Given the description of an element on the screen output the (x, y) to click on. 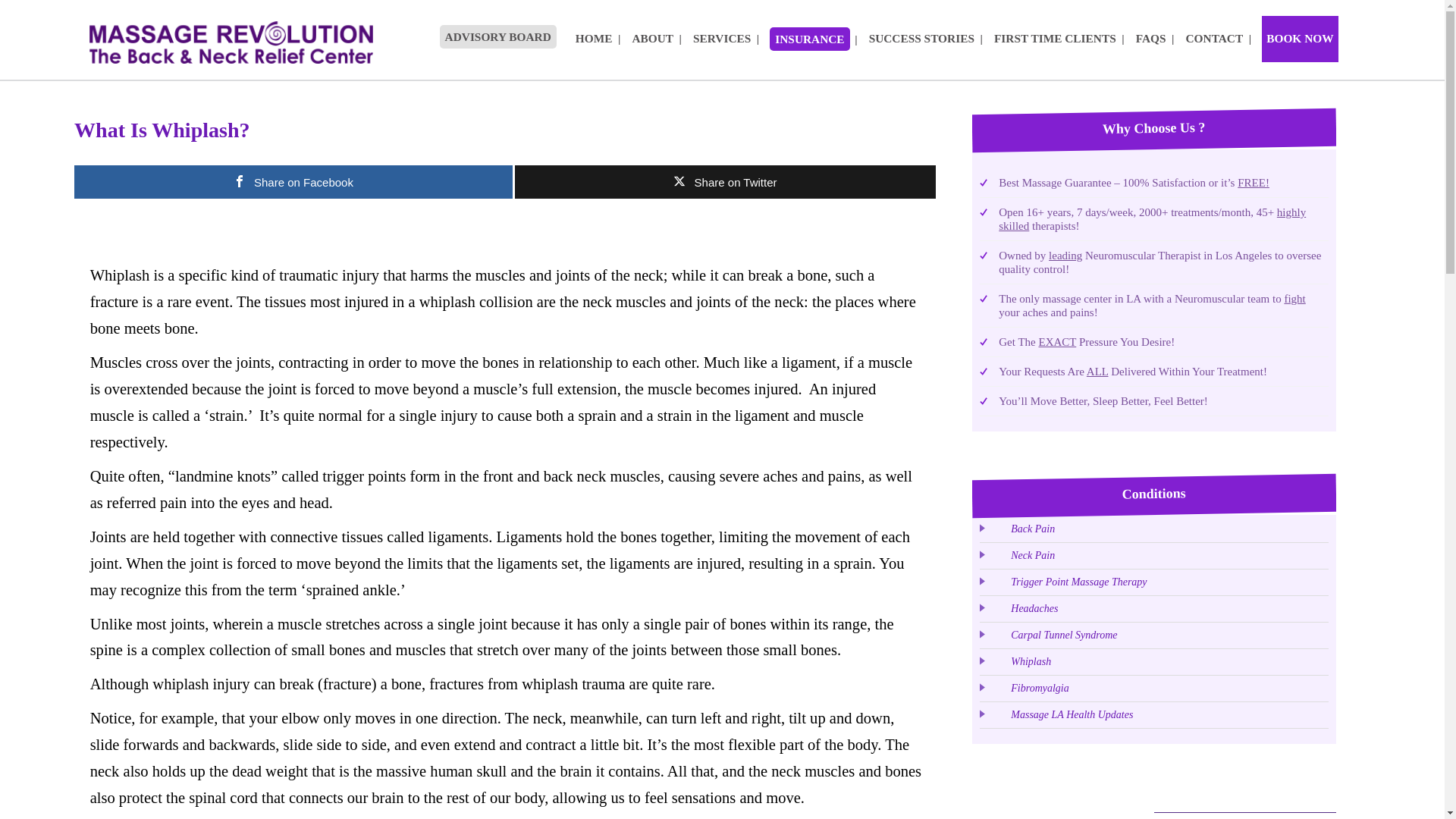
ADVISORY BOARD (497, 36)
SERVICES (722, 38)
INSURANCE (809, 38)
ABOUT (652, 38)
SUCCESS STORIES (921, 38)
